Given the description of an element on the screen output the (x, y) to click on. 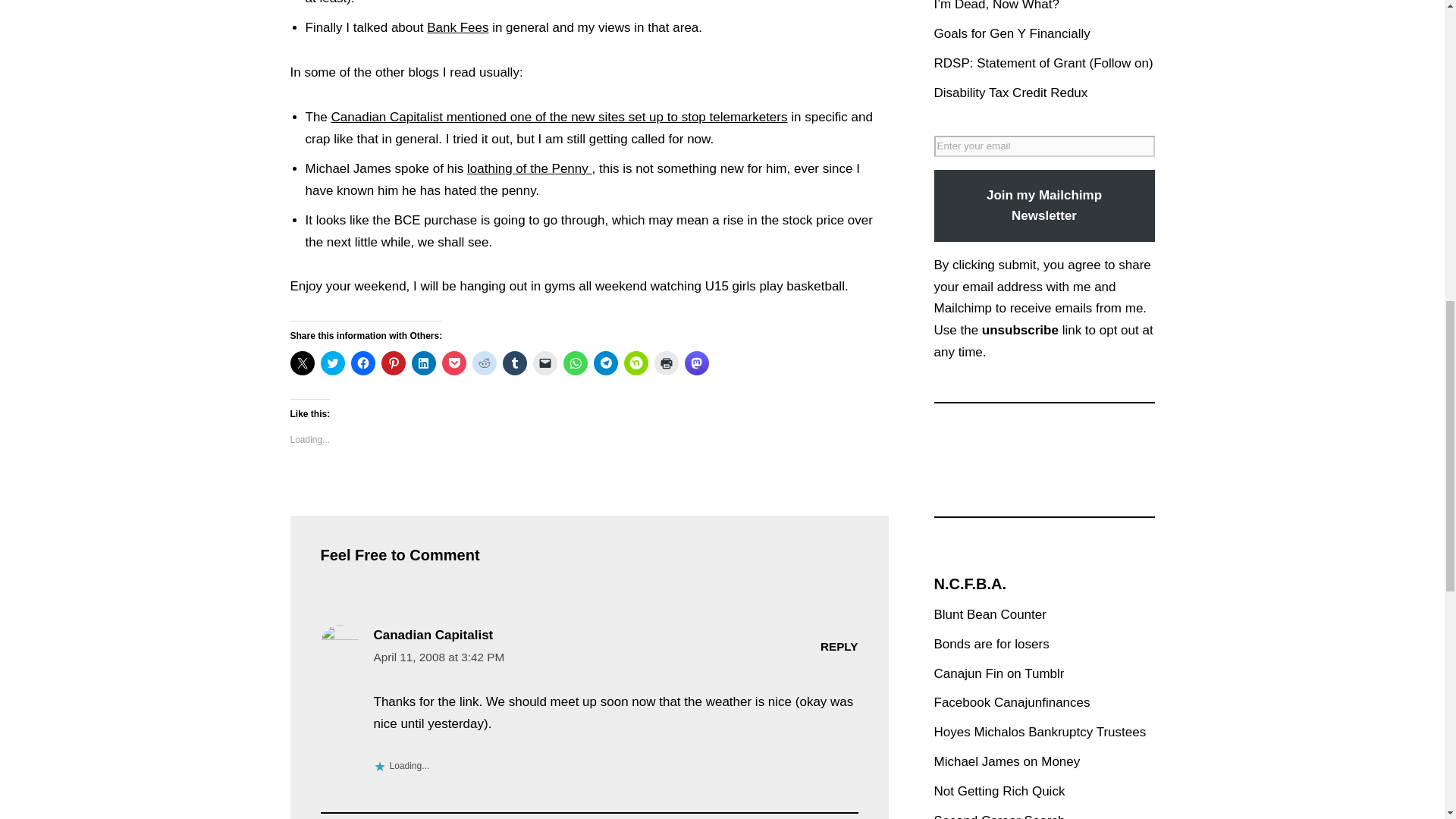
I Hate Telemarketers (559, 116)
Bank Fees (456, 27)
Hating The Penny (529, 168)
Bank Fees (456, 27)
loathing of the Penny (529, 168)
